Given the description of an element on the screen output the (x, y) to click on. 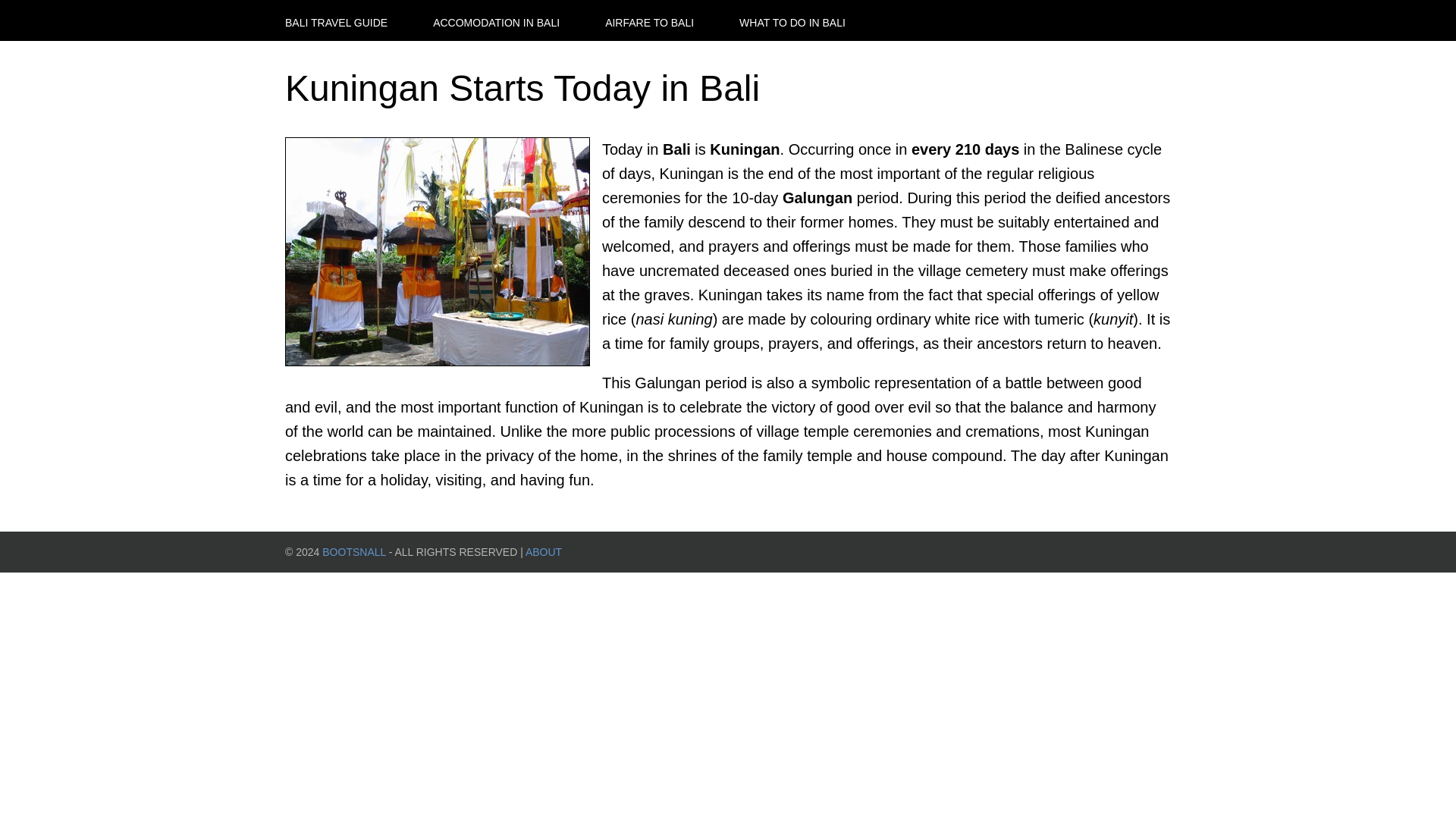
WHAT TO DO IN BALI (792, 22)
AIRFARE TO BALI (649, 22)
ABOUT (543, 551)
BOOTSNALL (353, 551)
BALI TRAVEL GUIDE (336, 22)
ACCOMODATION IN BALI (495, 22)
